Given the description of an element on the screen output the (x, y) to click on. 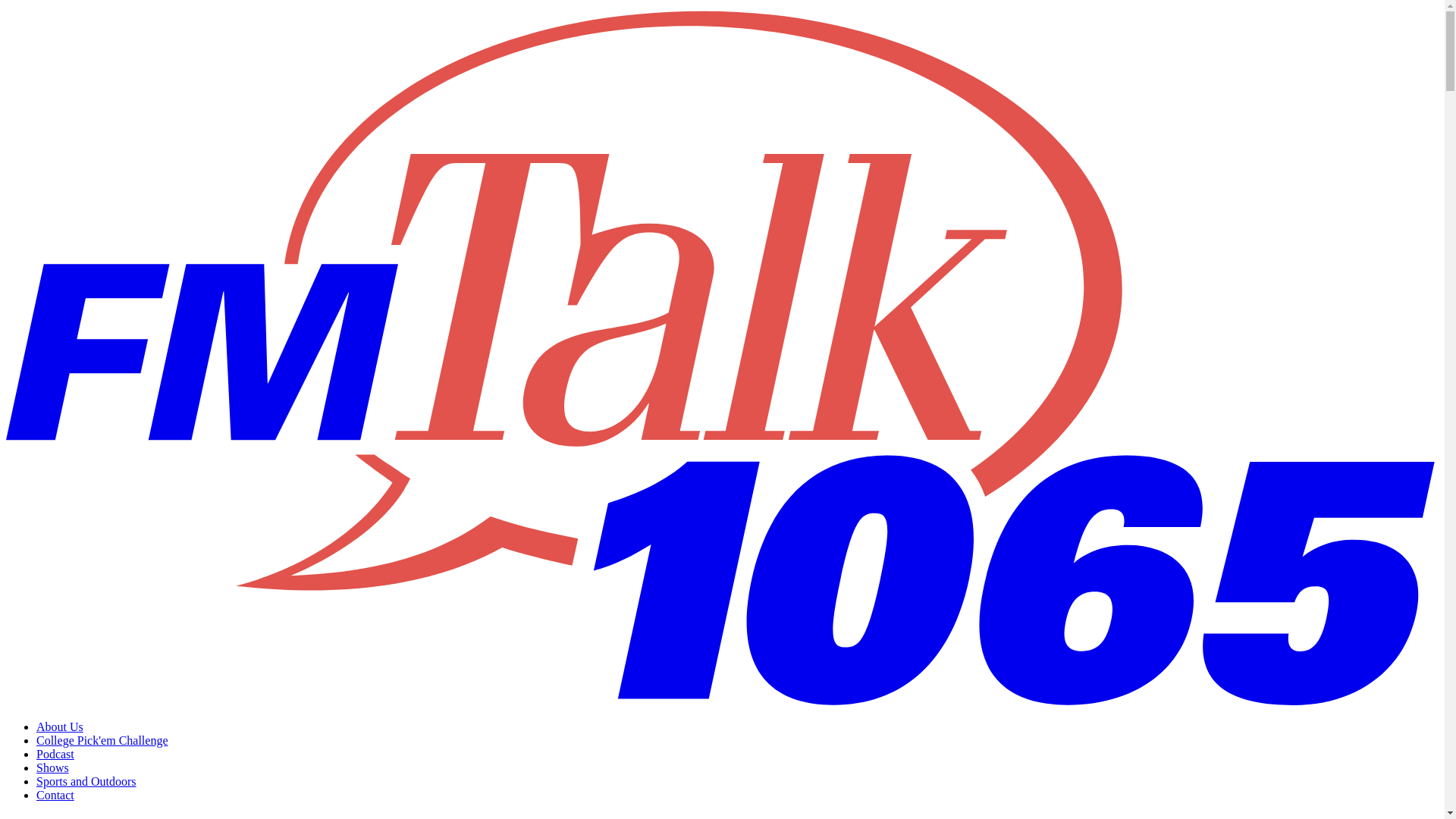
Shows (52, 767)
College Pick'em Challenge (102, 739)
About Us (59, 726)
Contact (55, 794)
Podcast (55, 753)
Sports and Outdoors (86, 780)
